Given the description of an element on the screen output the (x, y) to click on. 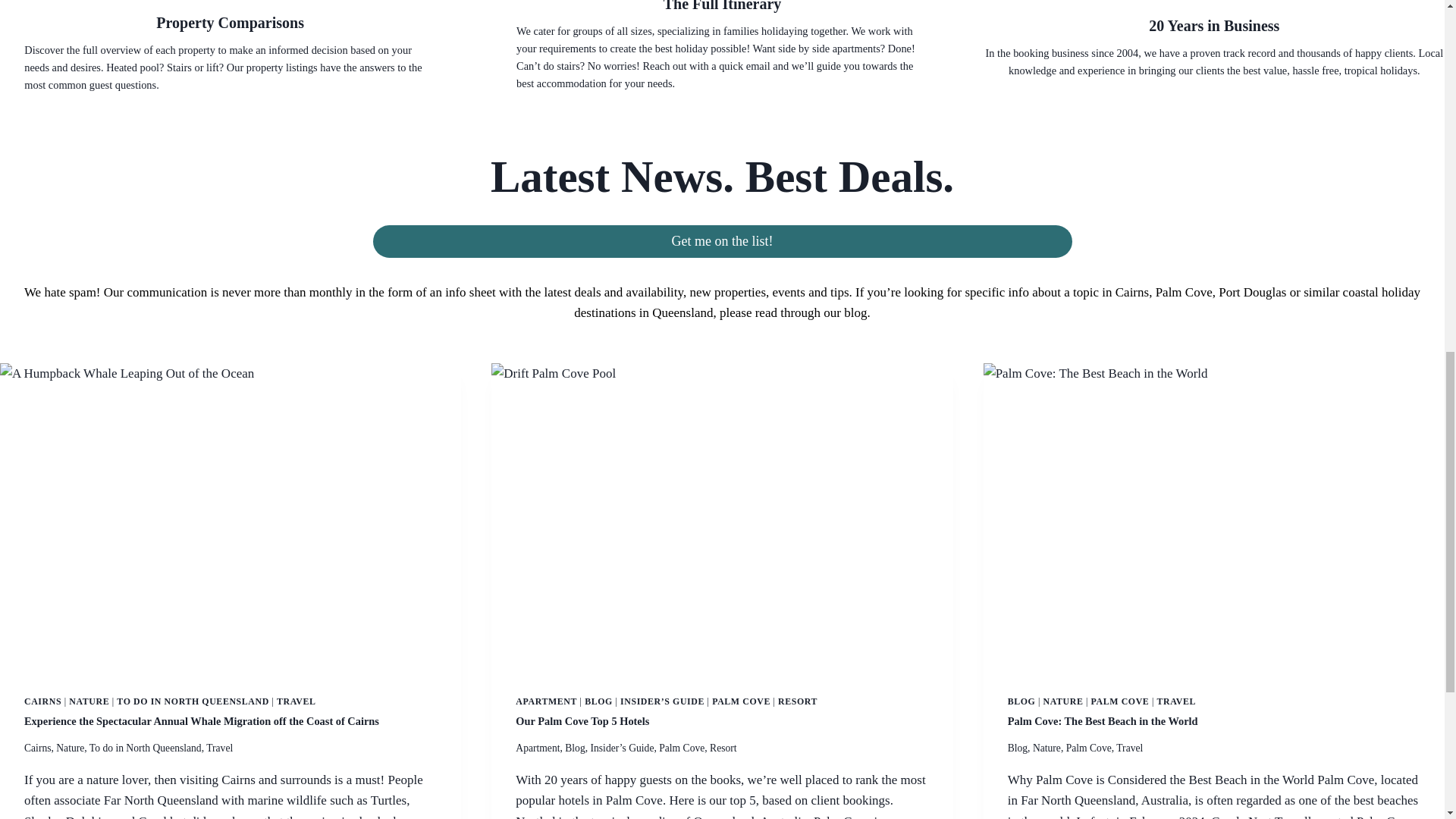
CAIRNS (42, 701)
TRAVEL (295, 701)
Blog (574, 747)
To do in North Queensland (145, 747)
NATURE (88, 701)
Cairns (37, 747)
Nature (70, 747)
Palm Cove (681, 747)
Our Palm Cove Top 5 Hotels (582, 720)
RESORT (796, 701)
